Given the description of an element on the screen output the (x, y) to click on. 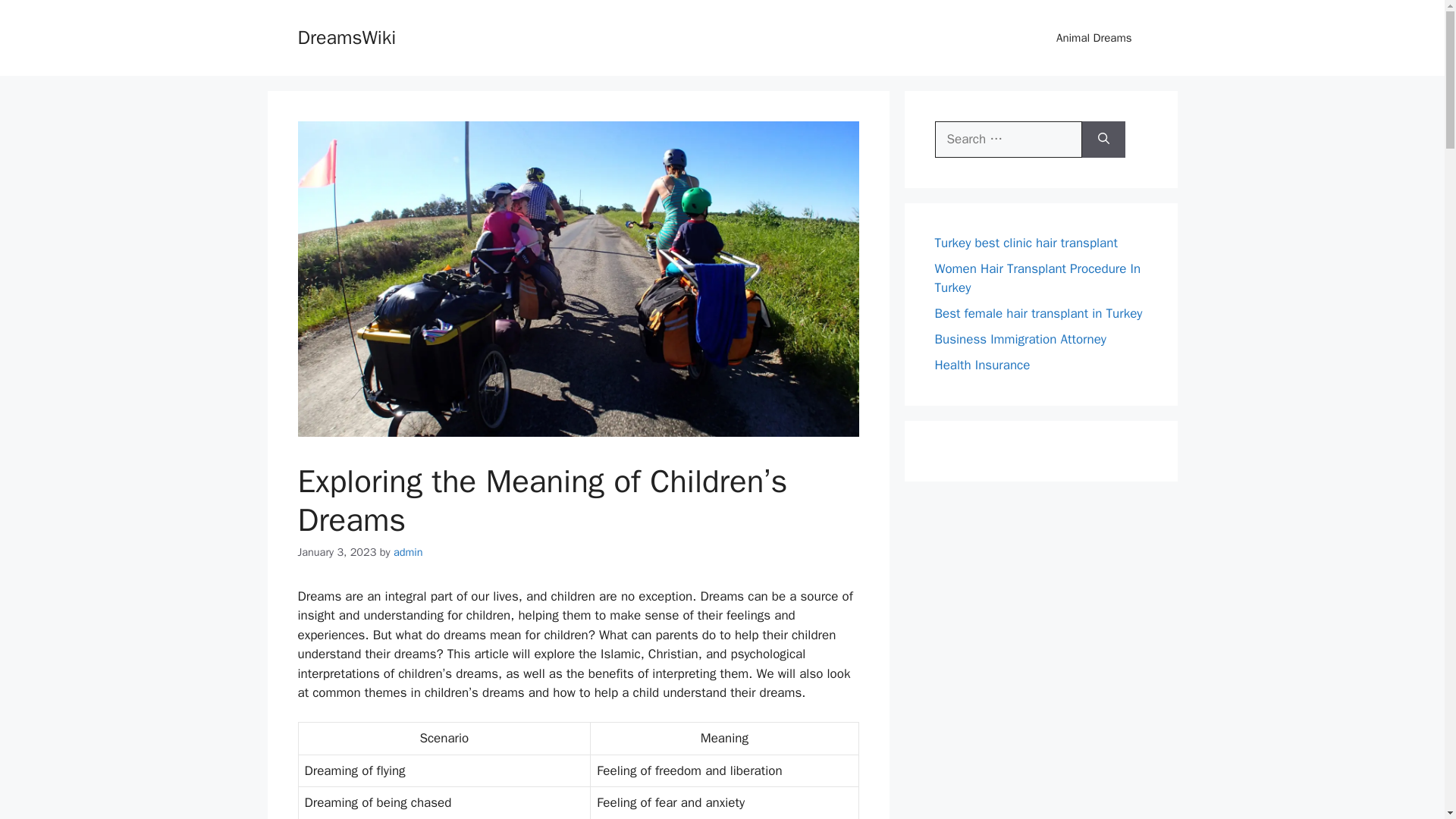
DreamsWiki (346, 37)
Animal Dreams (1094, 37)
Health Insurance (981, 365)
Women Hair Transplant Procedure In Turkey (1037, 278)
Best female hair transplant in Turkey (1037, 313)
Search for: (1007, 139)
Business Immigration Attorney (1019, 339)
Turkey best clinic hair transplant (1025, 242)
View all posts by admin (408, 551)
admin (408, 551)
